Given the description of an element on the screen output the (x, y) to click on. 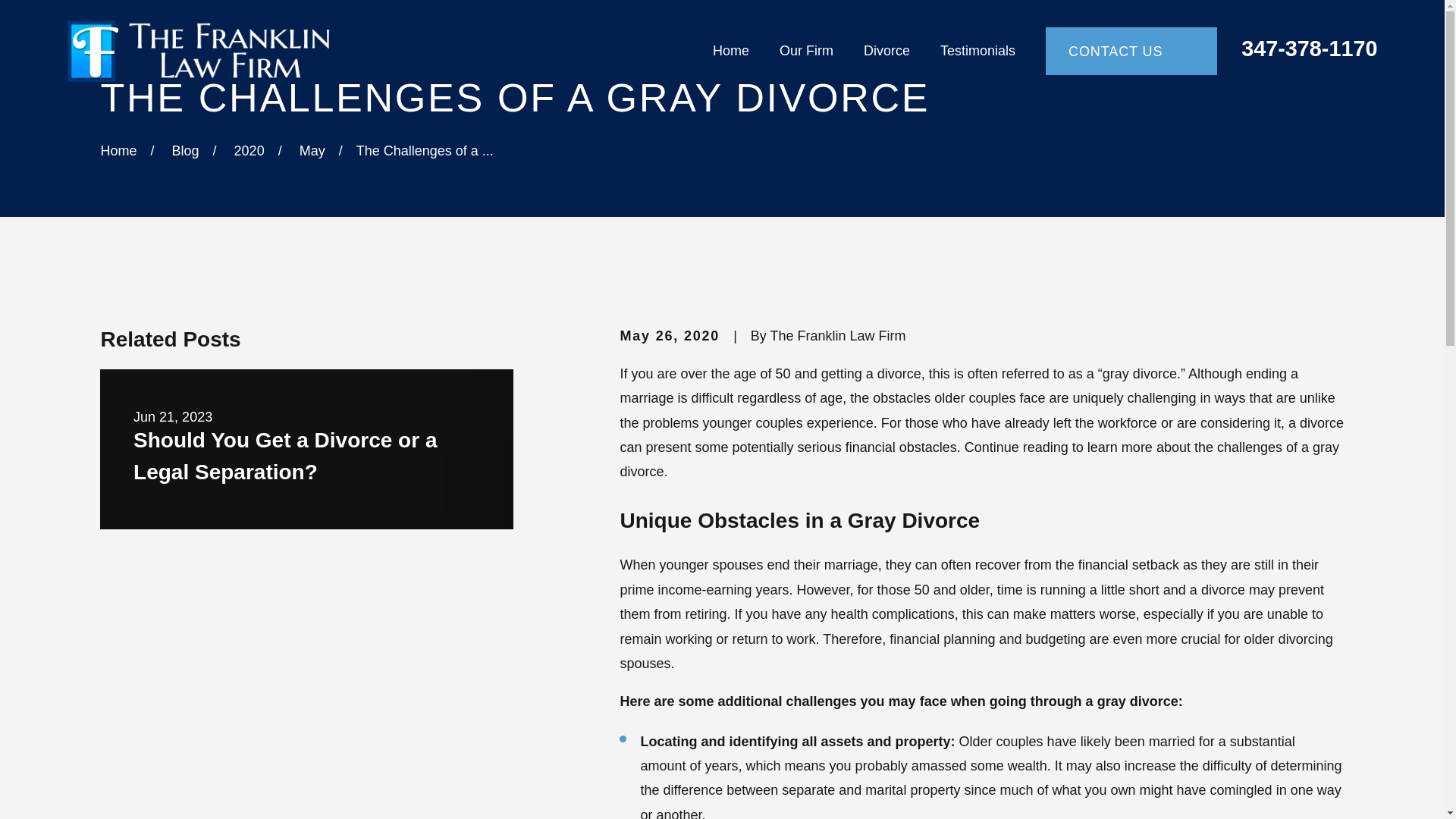
Our Firm (805, 50)
Home (217, 50)
Divorce (886, 50)
Testimonials (977, 50)
Go Home (118, 150)
